Given the description of an element on the screen output the (x, y) to click on. 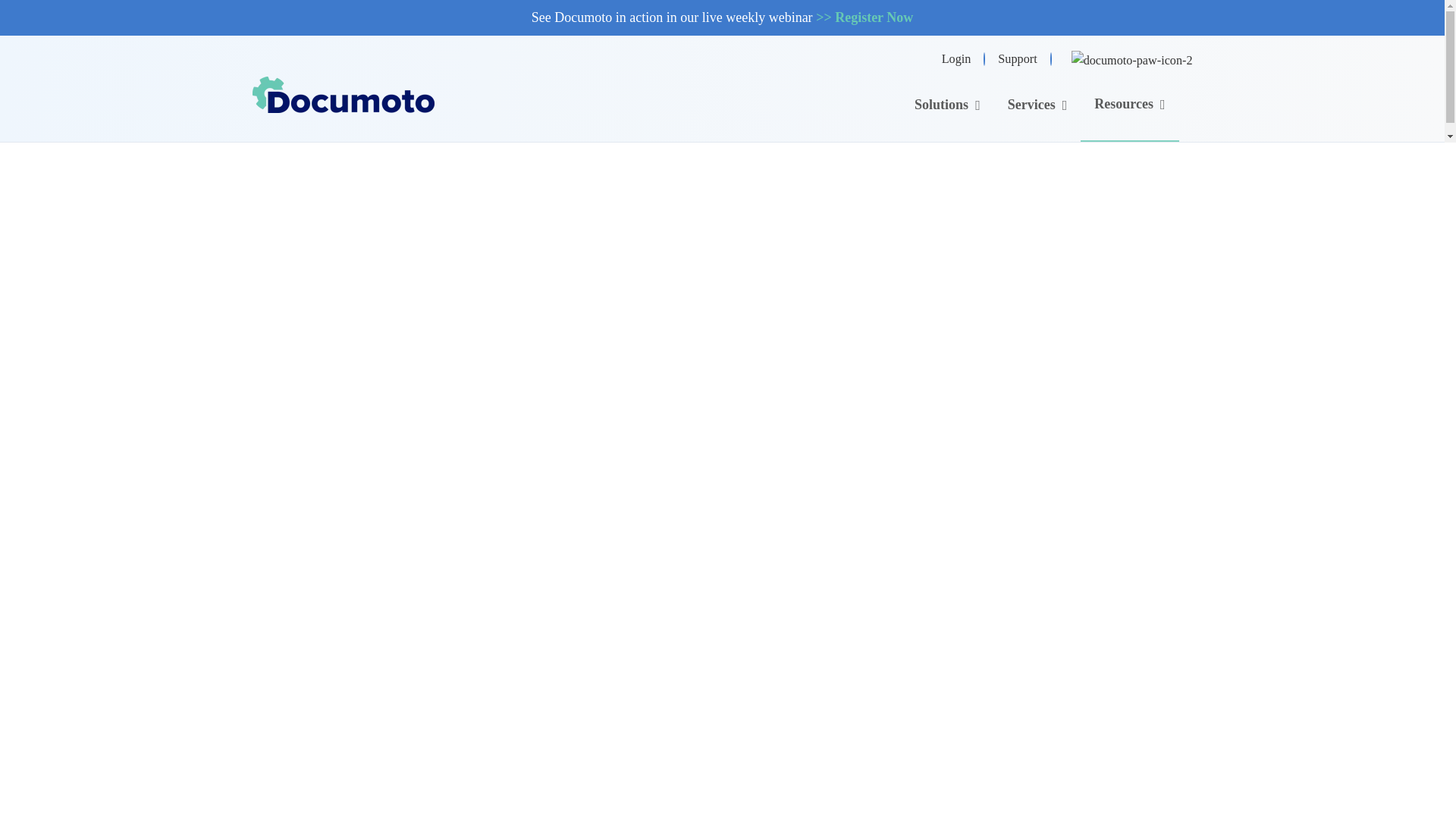
Services (1037, 105)
Solutions (947, 105)
Login (956, 58)
Support (1016, 58)
